Given the description of an element on the screen output the (x, y) to click on. 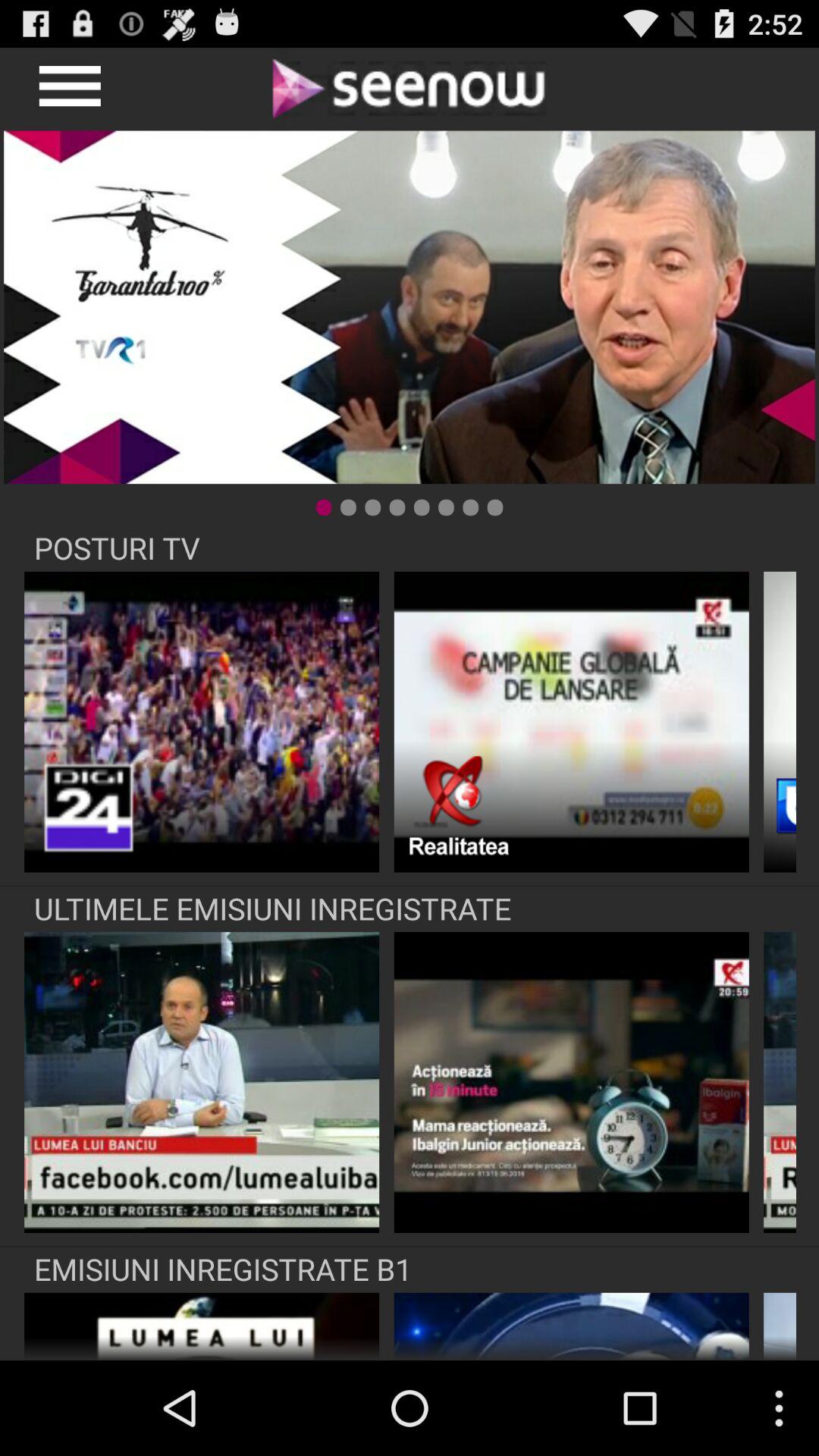
select the 2nd image to the right (571, 722)
